Given the description of an element on the screen output the (x, y) to click on. 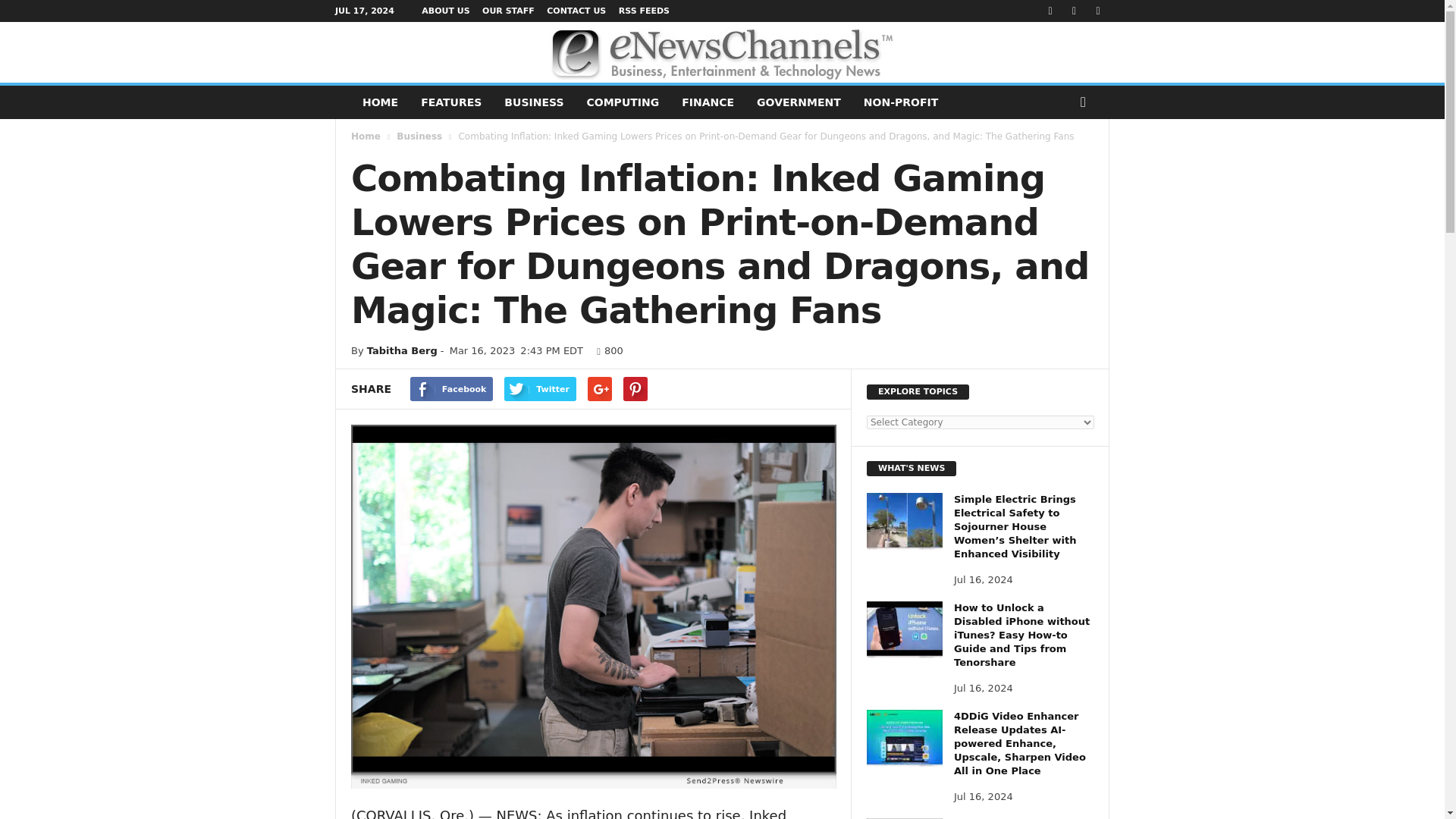
BUSINESS (534, 101)
NON-PROFIT (900, 101)
Tabitha Berg (402, 350)
COMPUTING (623, 101)
ABOUT US (445, 10)
OUR STAFF (507, 10)
View all posts in Business (419, 136)
Business (419, 136)
Facebook (451, 388)
CONTACT US (576, 10)
Home (365, 136)
